Given the description of an element on the screen output the (x, y) to click on. 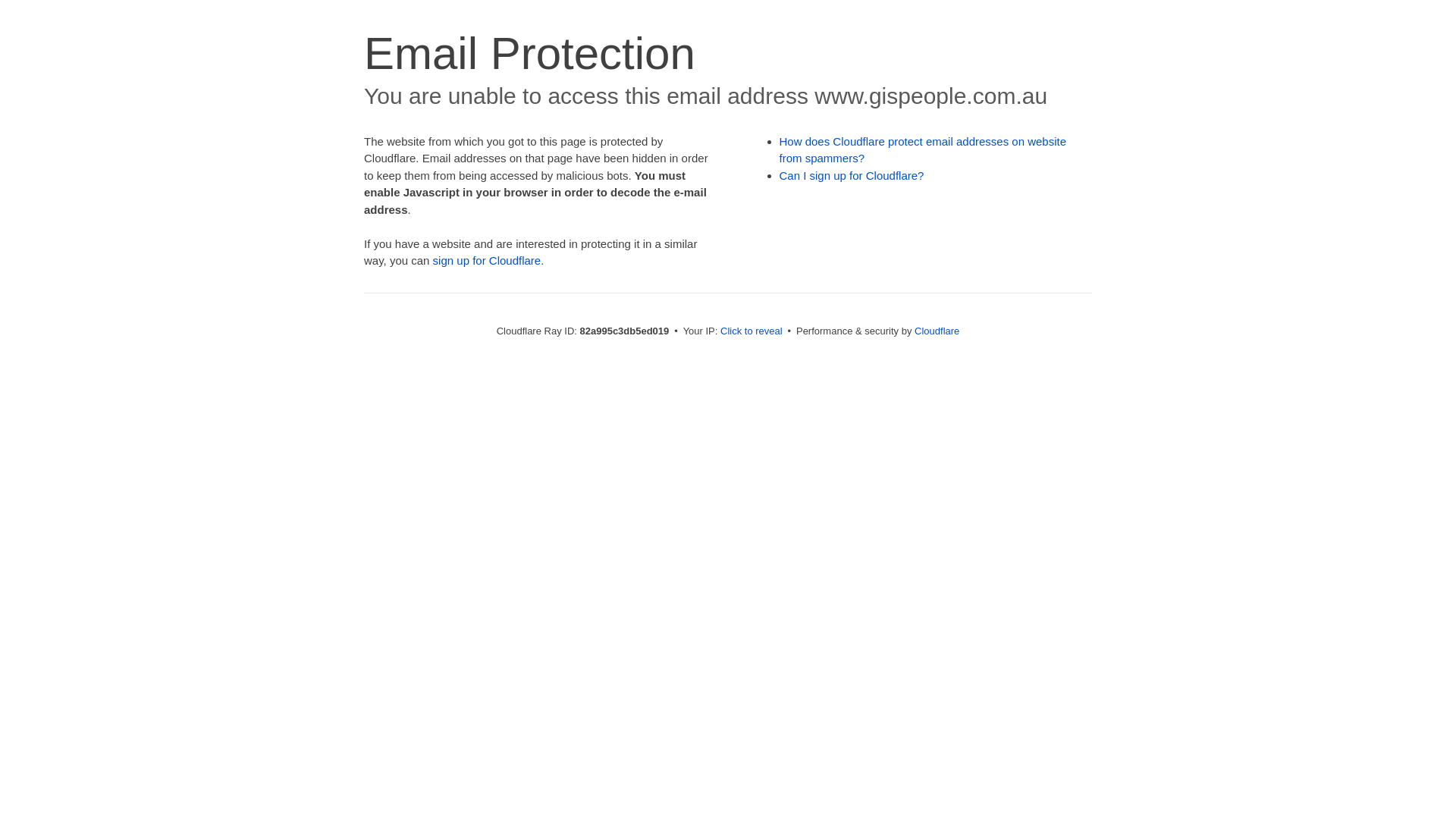
Cloudflare Element type: text (936, 330)
Click to reveal Element type: text (751, 330)
Can I sign up for Cloudflare? Element type: text (851, 175)
sign up for Cloudflare Element type: text (487, 260)
